Given the description of an element on the screen output the (x, y) to click on. 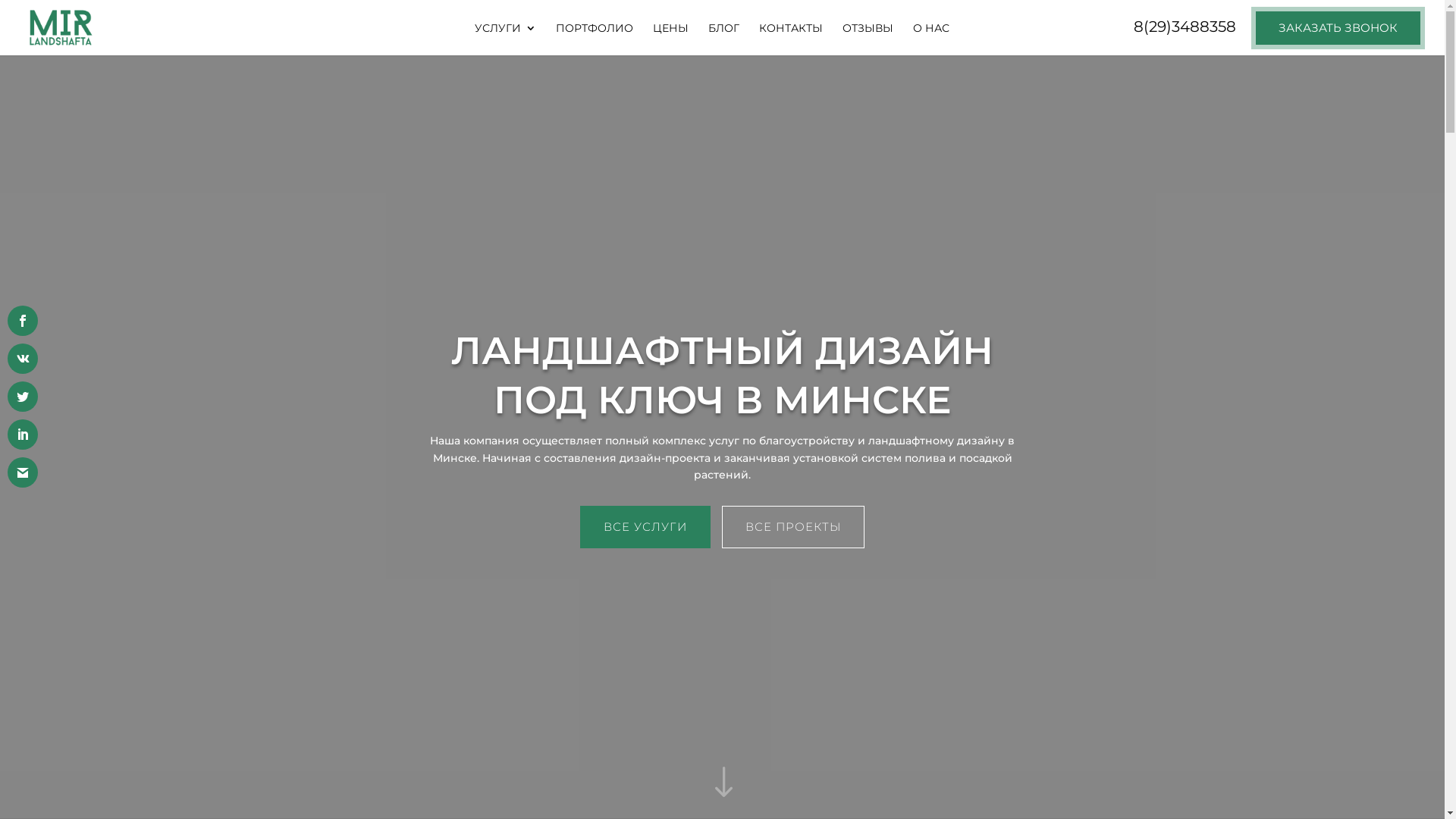
8(29)3488358 Element type: text (1184, 33)
" Element type: text (721, 782)
